Given the description of an element on the screen output the (x, y) to click on. 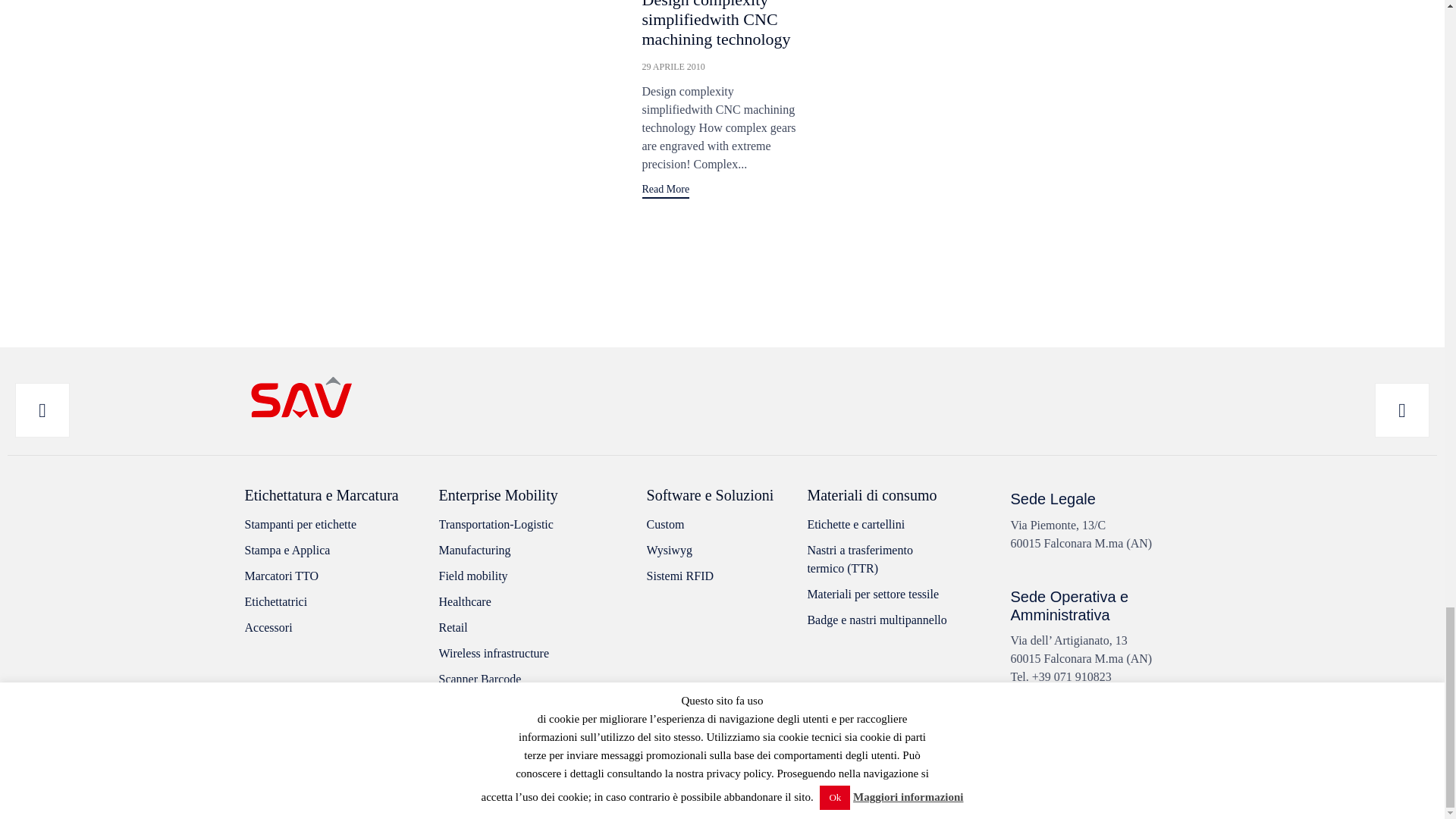
Design complexity simplifiedwith CNC machining technology (673, 66)
Design complexity simplifiedwith CNC machining technology (716, 24)
Sav logo (300, 397)
Sav logo (300, 420)
